Given the description of an element on the screen output the (x, y) to click on. 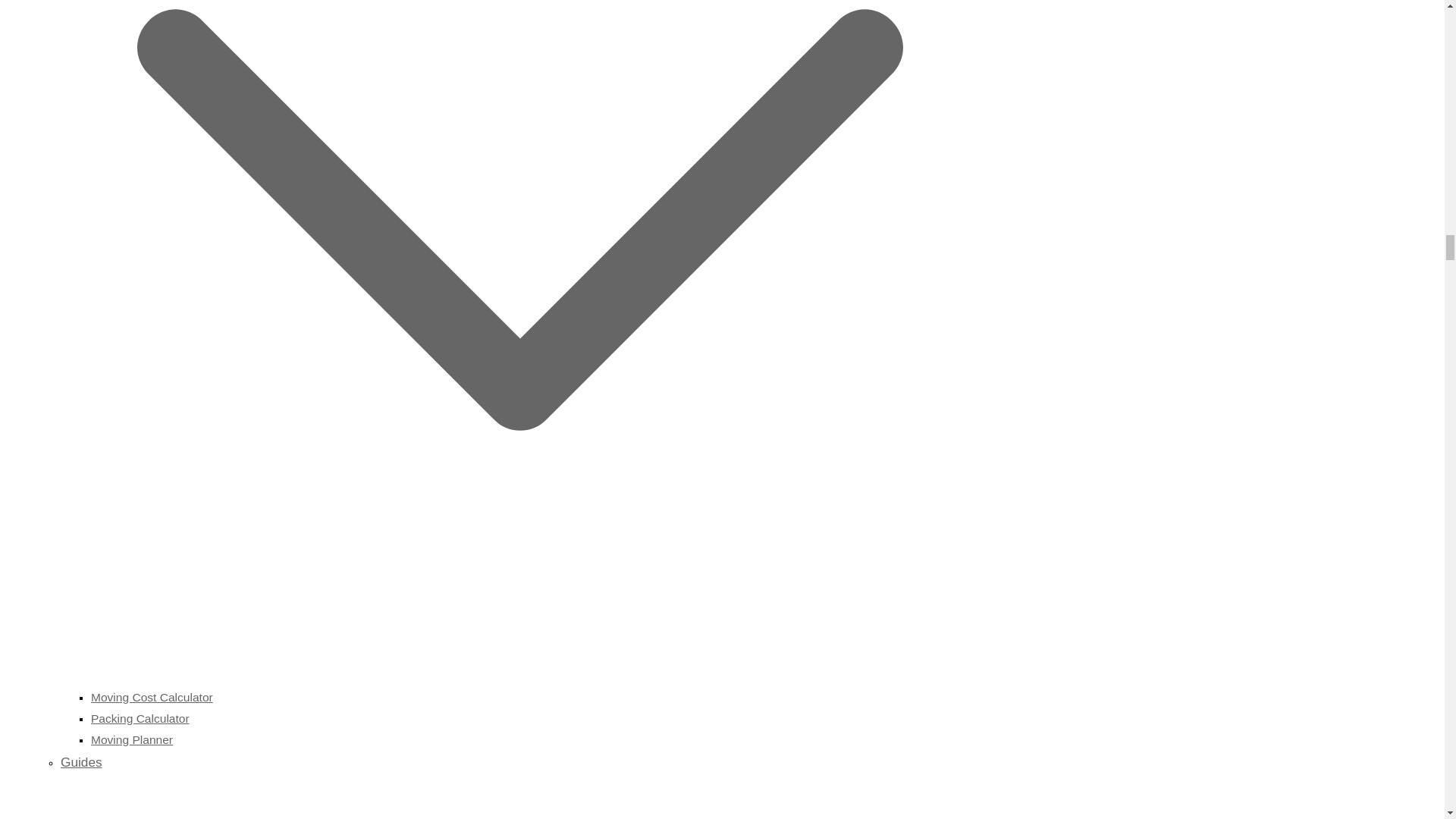
Guides (520, 786)
Packing Calculator (139, 717)
Moving Planner (131, 739)
Moving Cost Calculator (151, 697)
